Given the description of an element on the screen output the (x, y) to click on. 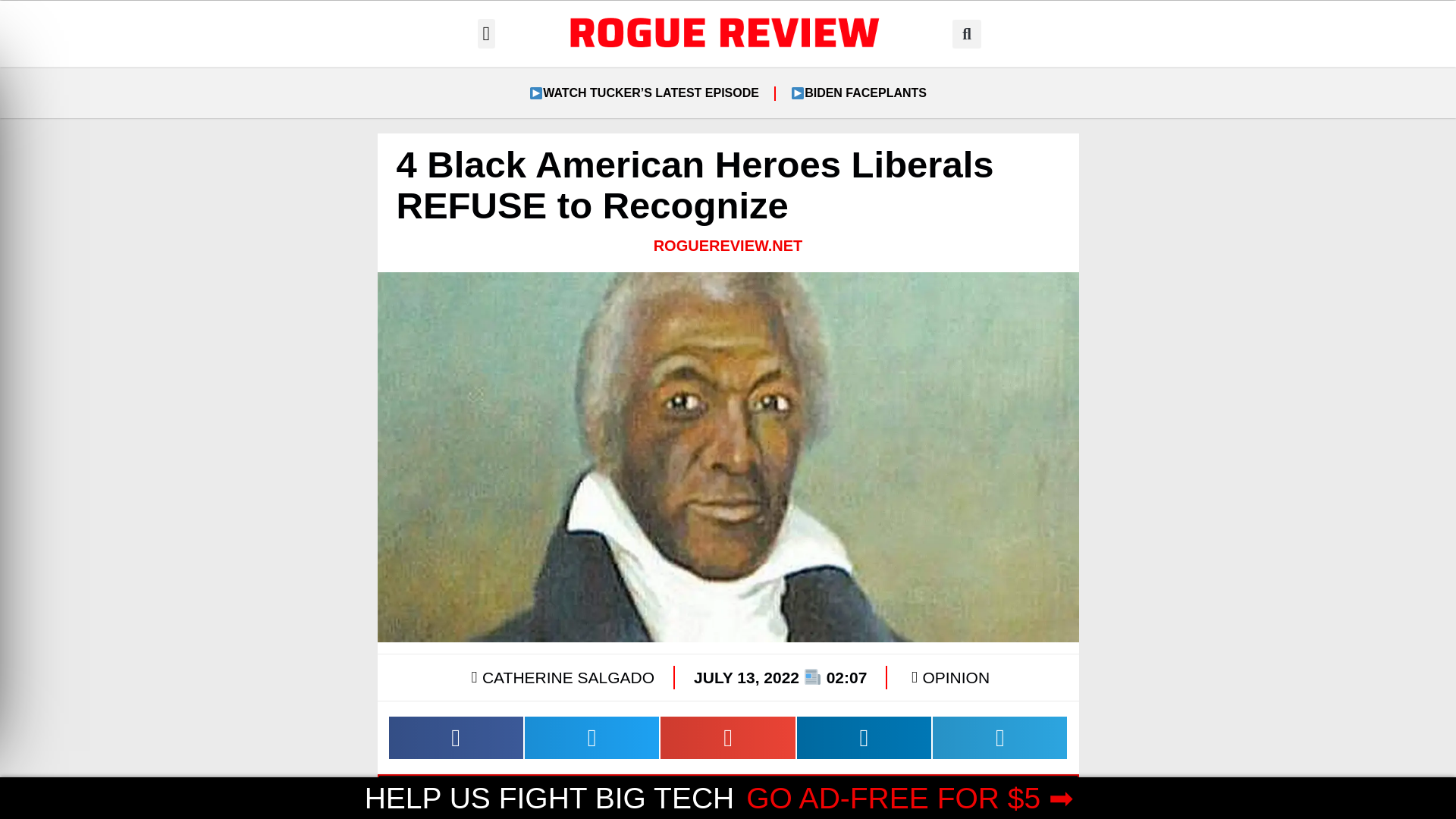
CATHERINE SALGADO (559, 677)
OPINION (955, 677)
BIDEN FACEPLANTS (859, 93)
